Given the description of an element on the screen output the (x, y) to click on. 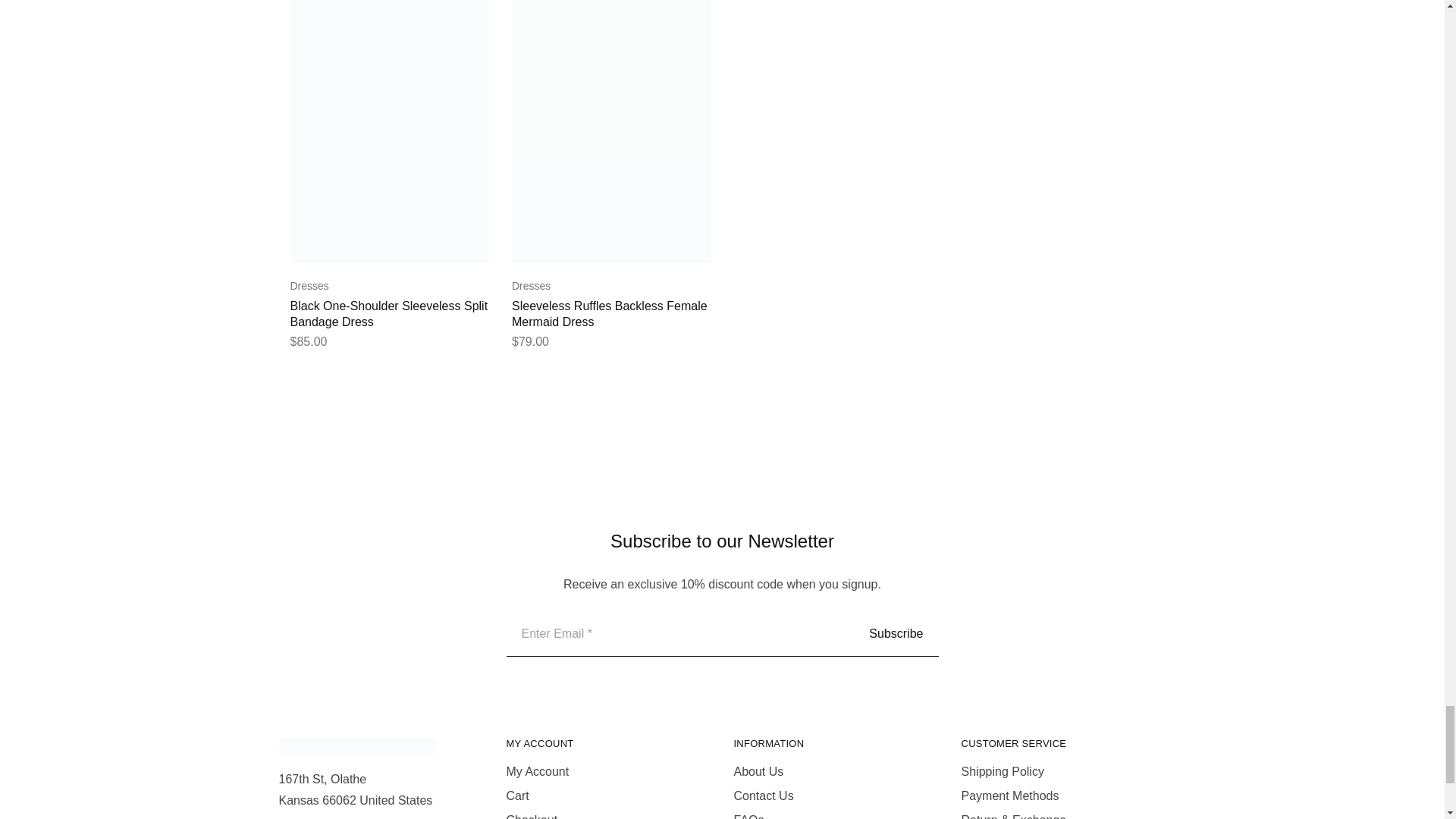
Subscribe (895, 633)
